Given the description of an element on the screen output the (x, y) to click on. 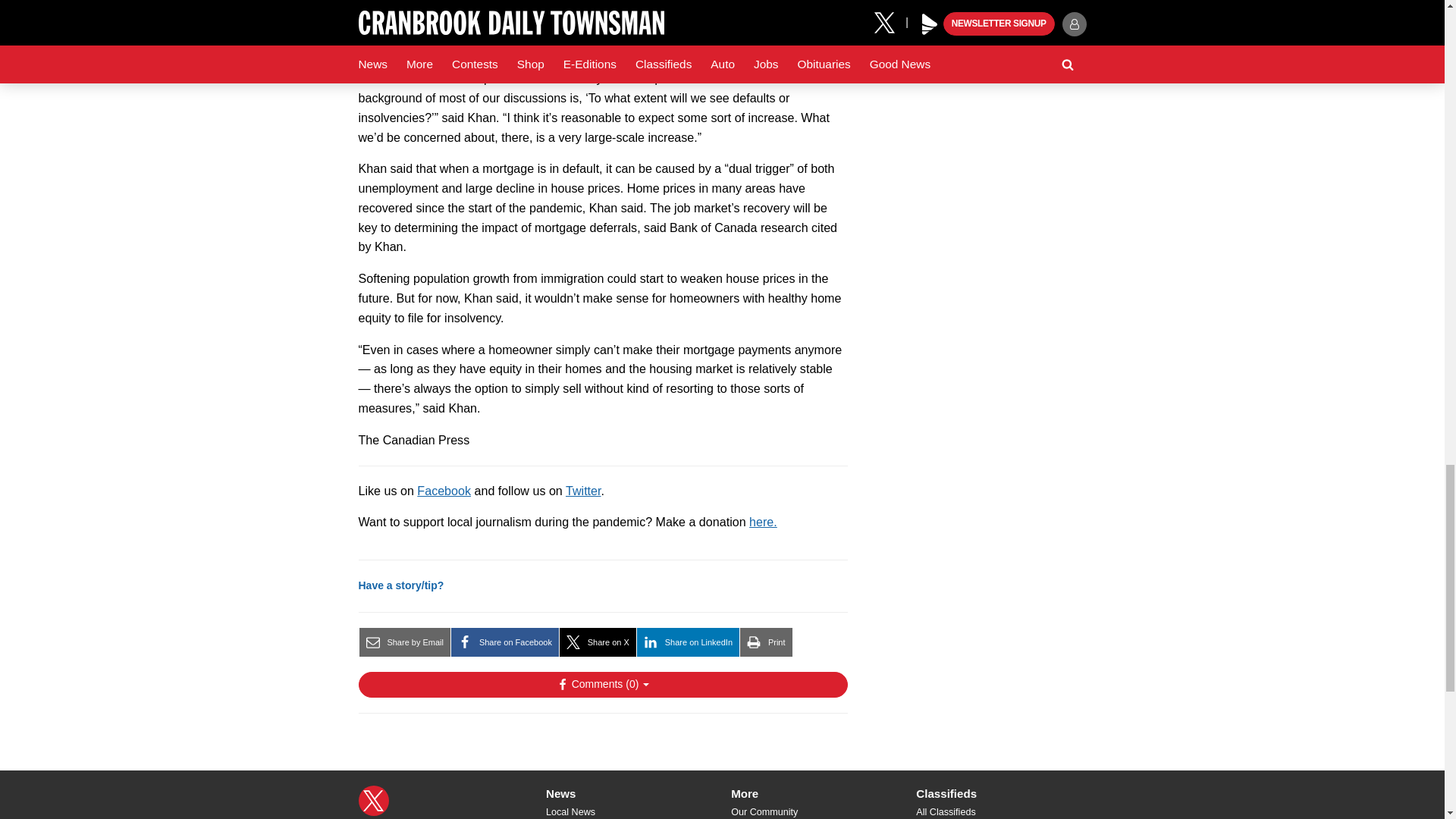
Show Comments (602, 684)
X (373, 800)
